Given the description of an element on the screen output the (x, y) to click on. 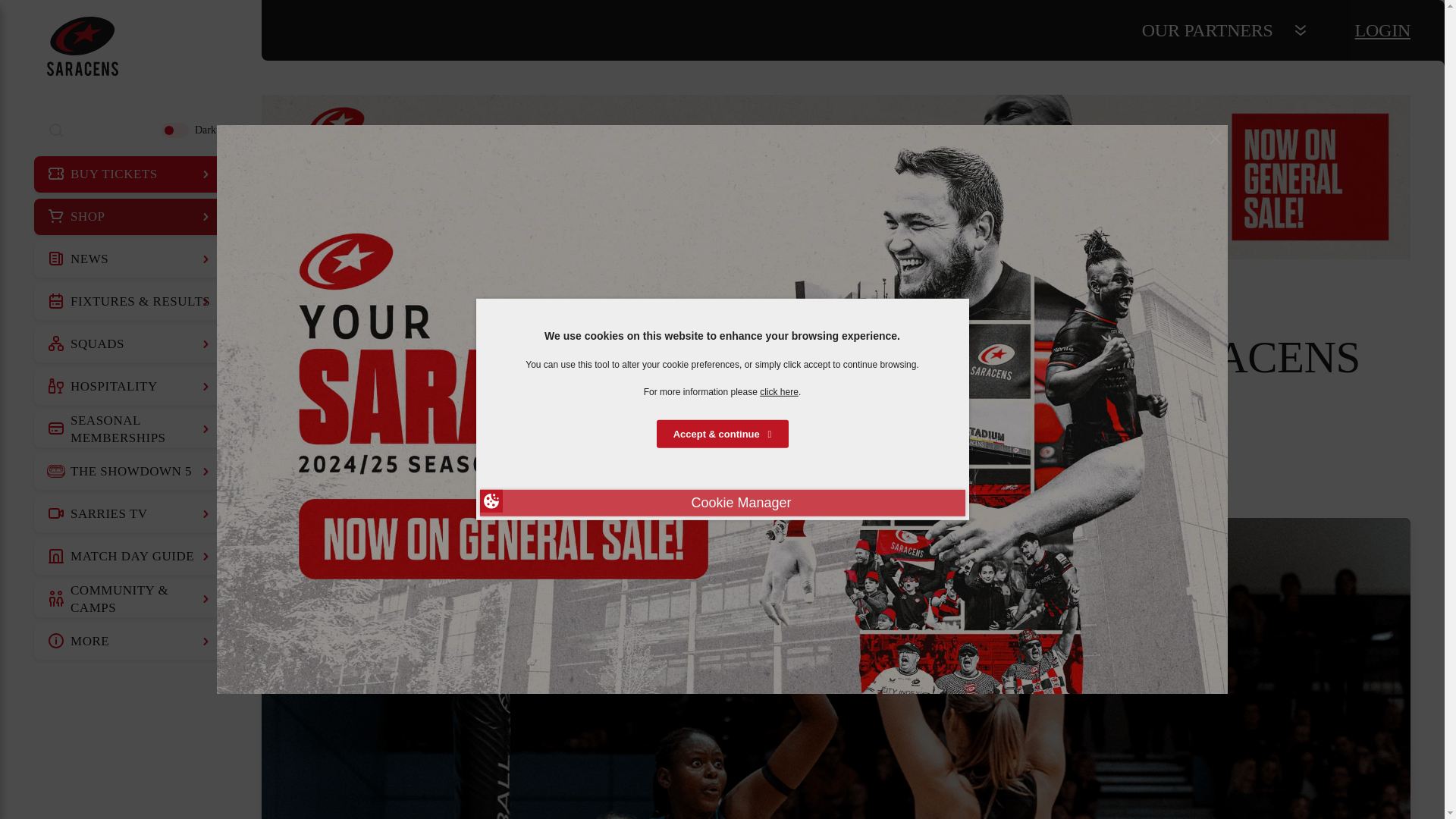
NEWS (130, 258)
MATCH DAY GUIDE (130, 556)
Search (55, 130)
THE SHOWDOWN 5 (130, 471)
SEASONAL MEMBERSHIPS (130, 429)
LOGIN (1382, 29)
SQUADS (130, 343)
SARRIES TV (130, 514)
SHOP (130, 217)
Cookie Manager (721, 502)
MORE (130, 641)
HOSPITALITY (130, 386)
BUY TICKETS (130, 174)
